Given the description of an element on the screen output the (x, y) to click on. 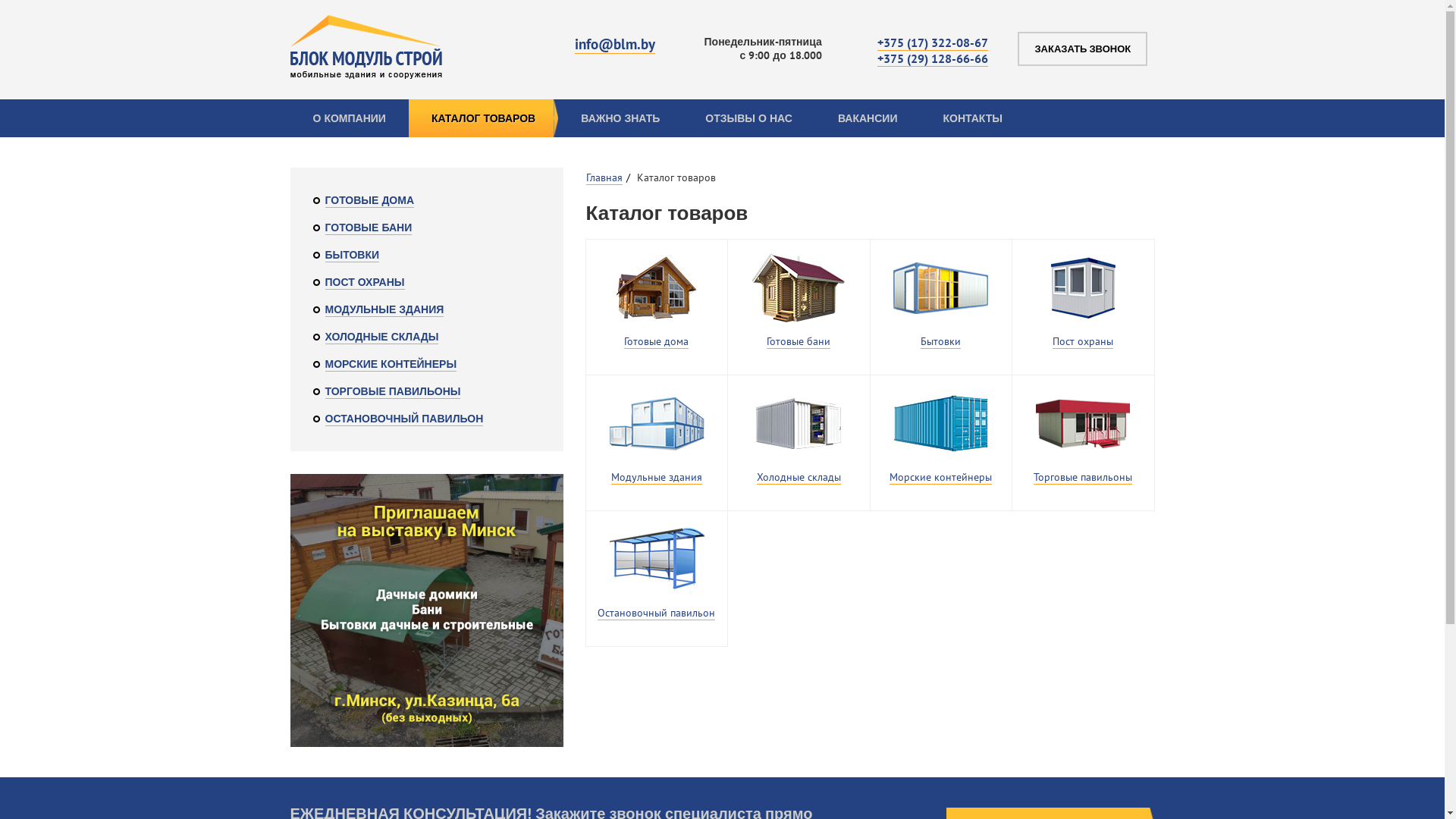
+375 (29) 128-66-66 Element type: text (932, 58)
+375 (17) 322-08-67 Element type: text (932, 42)
info@blm.by Element type: text (614, 43)
